Given the description of an element on the screen output the (x, y) to click on. 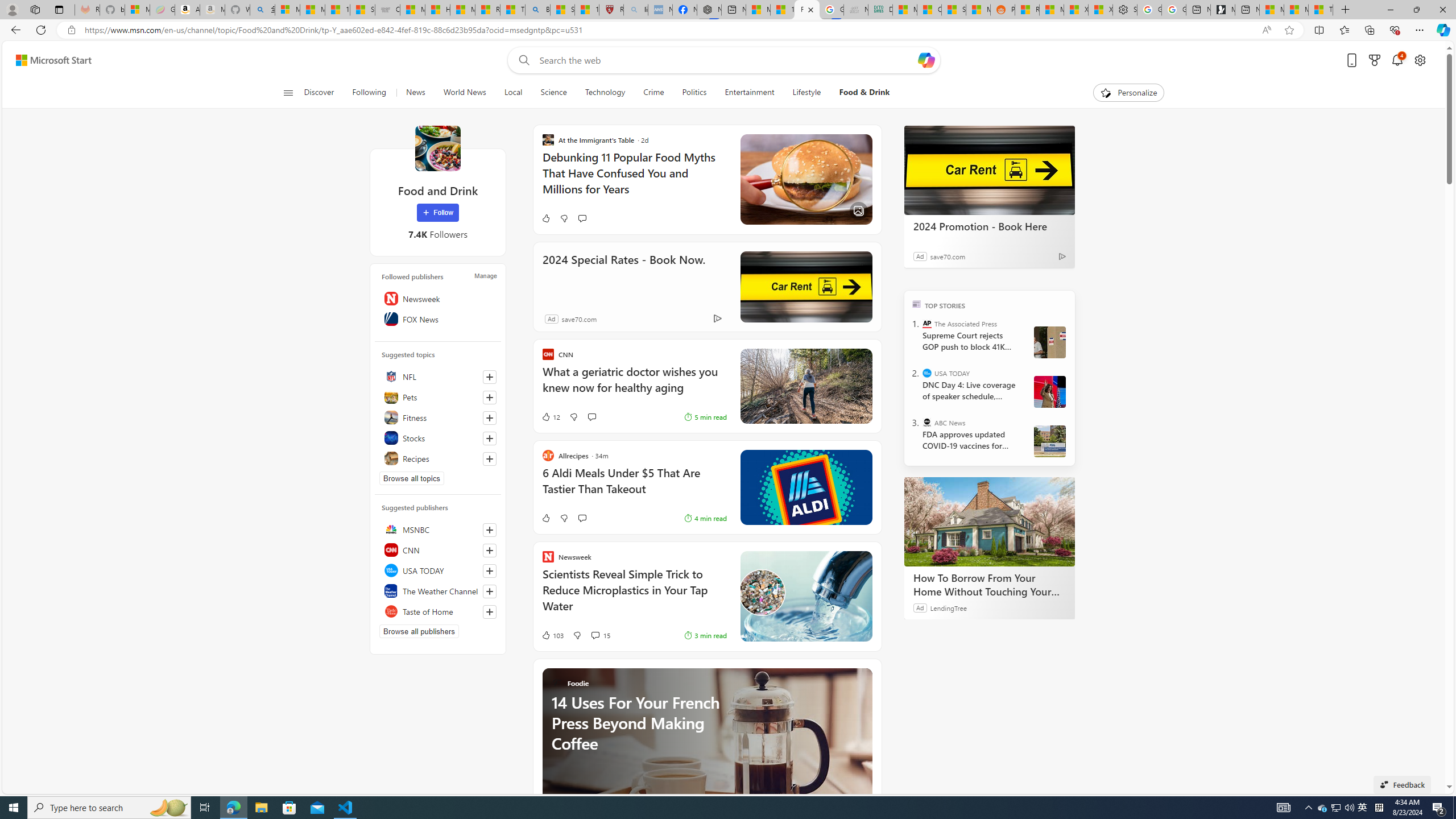
LendingTree (948, 607)
Robert H. Shmerling, MD - Harvard Health (611, 9)
103 Like (551, 635)
These 3 Stocks Pay You More Than 5% to Own Them (1320, 9)
Follow this topic (489, 459)
FOX News (437, 318)
Pets (437, 397)
NFL (437, 376)
